Given the description of an element on the screen output the (x, y) to click on. 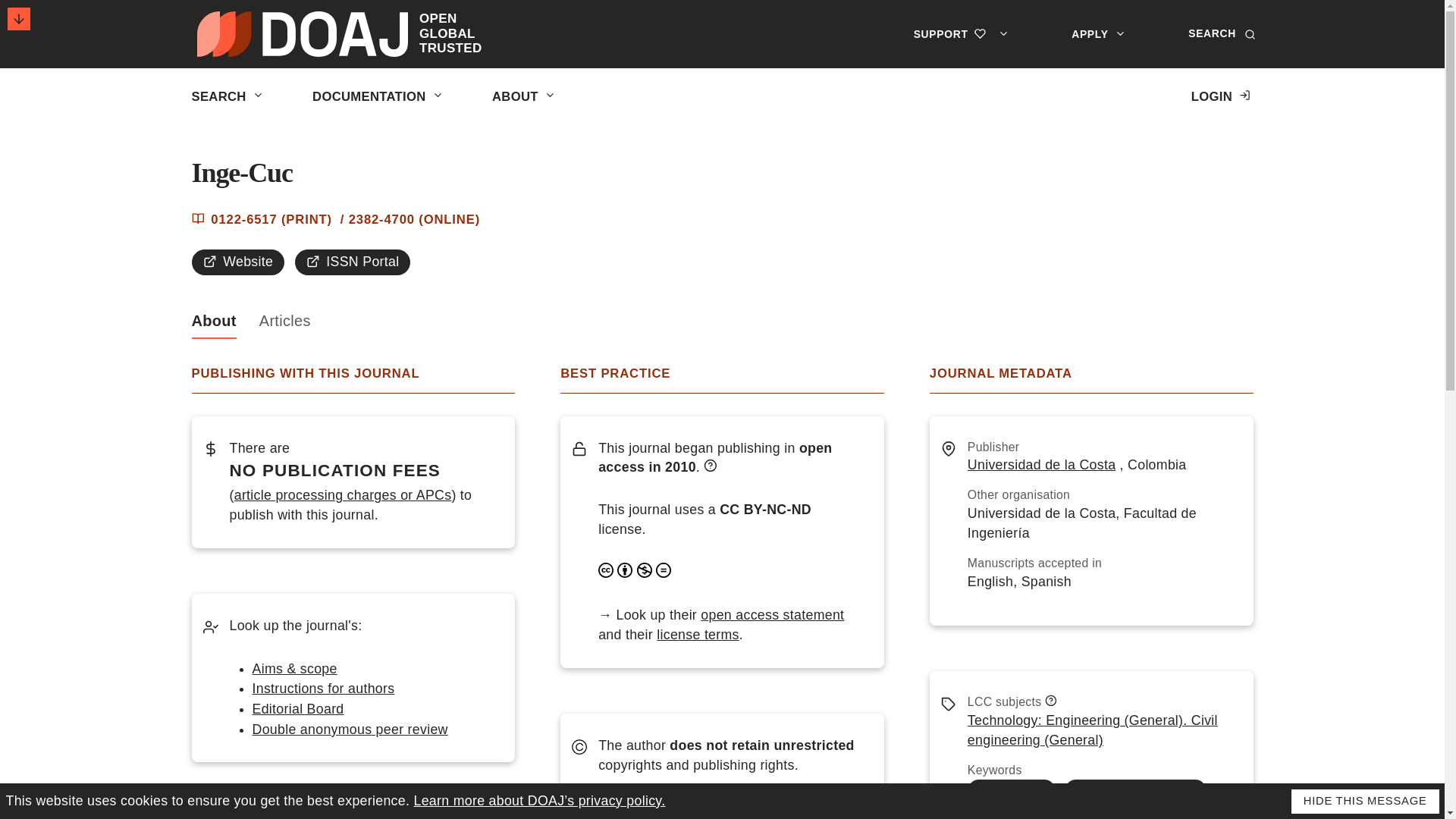
HIDE THIS MESSAGE (1365, 801)
SUPPORT (964, 33)
DOCUMENTATION (379, 96)
SEARCH (228, 96)
ABOUT (353, 33)
